Given the description of an element on the screen output the (x, y) to click on. 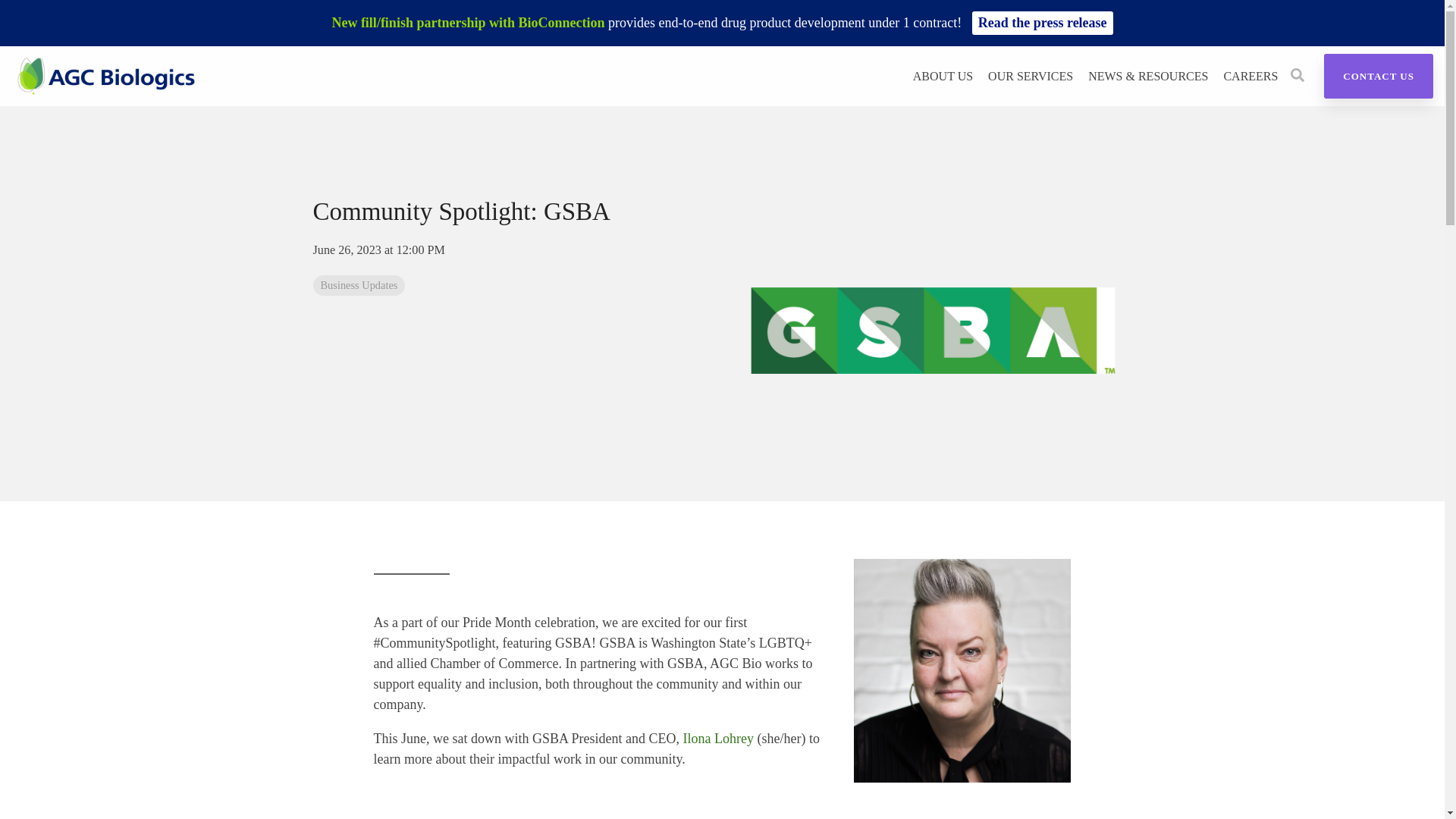
ABOUT US (942, 75)
OUR SERVICES (1030, 75)
Read the press release (1042, 23)
Contact Us (1377, 76)
AGC Biologics Logo (105, 75)
